Given the description of an element on the screen output the (x, y) to click on. 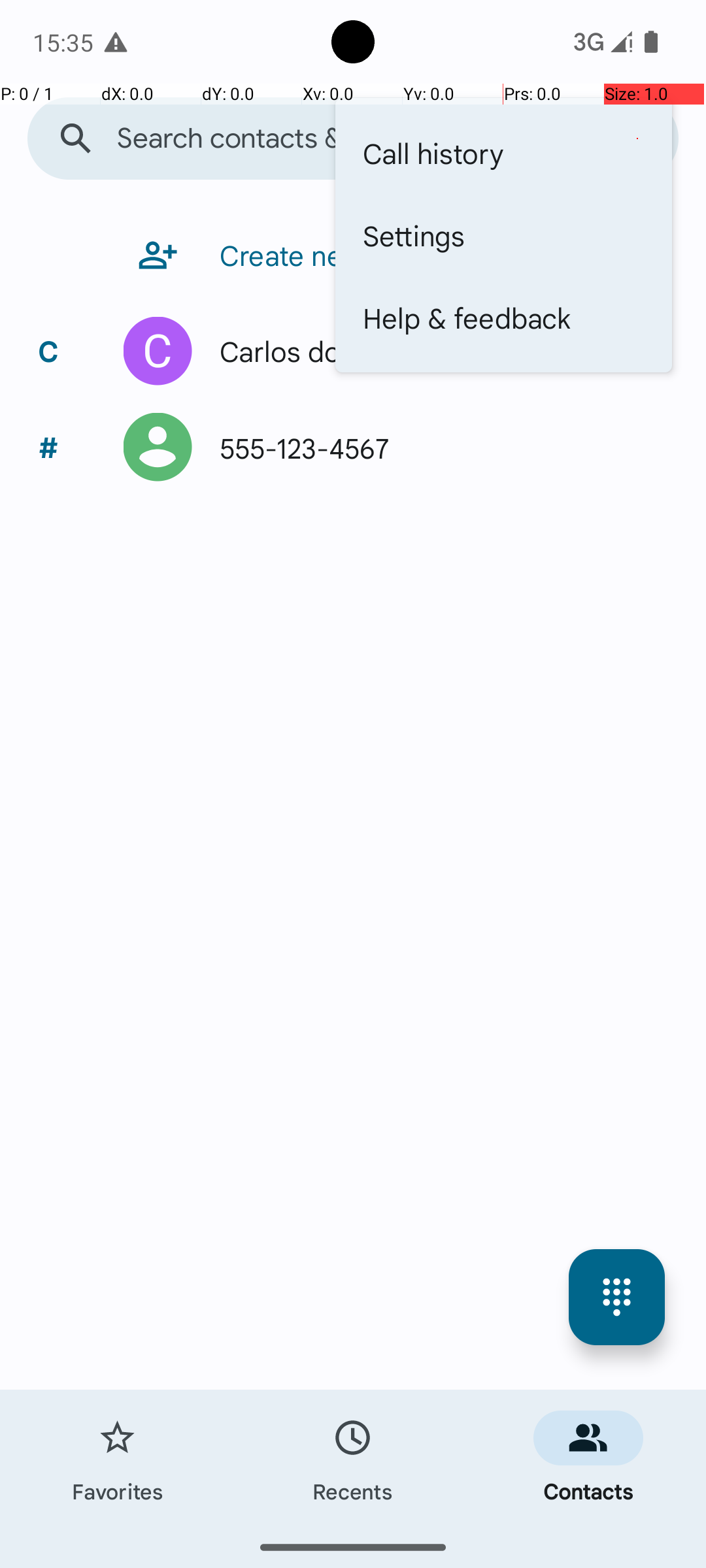
Call history Element type: android.widget.TextView (503, 152)
